Given the description of an element on the screen output the (x, y) to click on. 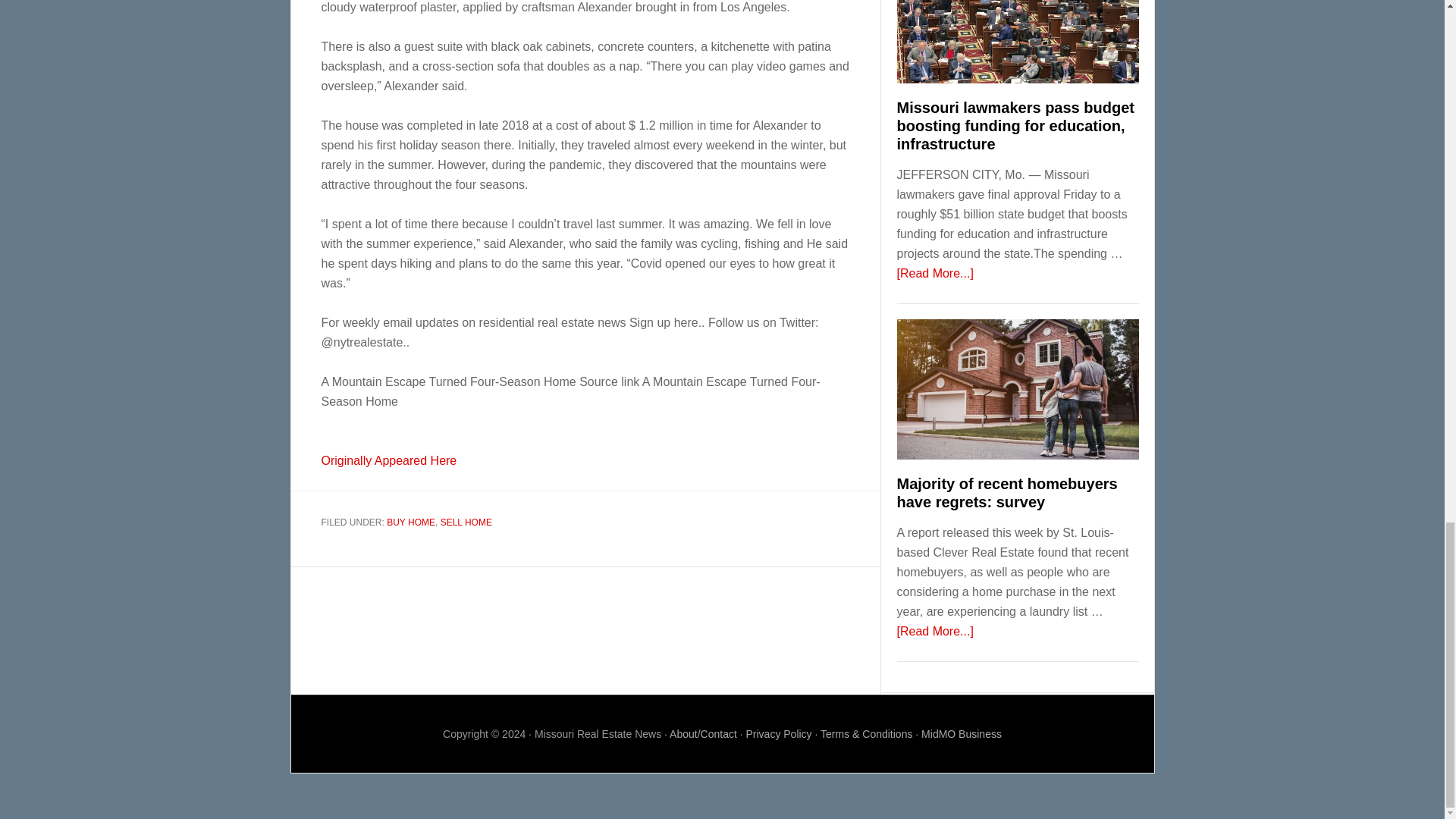
Majority of recent homebuyers have regrets: survey (1006, 492)
Privacy Policy (777, 734)
SELL HOME (466, 521)
BUY HOME (411, 521)
Originally Appeared Here (389, 460)
